Given the description of an element on the screen output the (x, y) to click on. 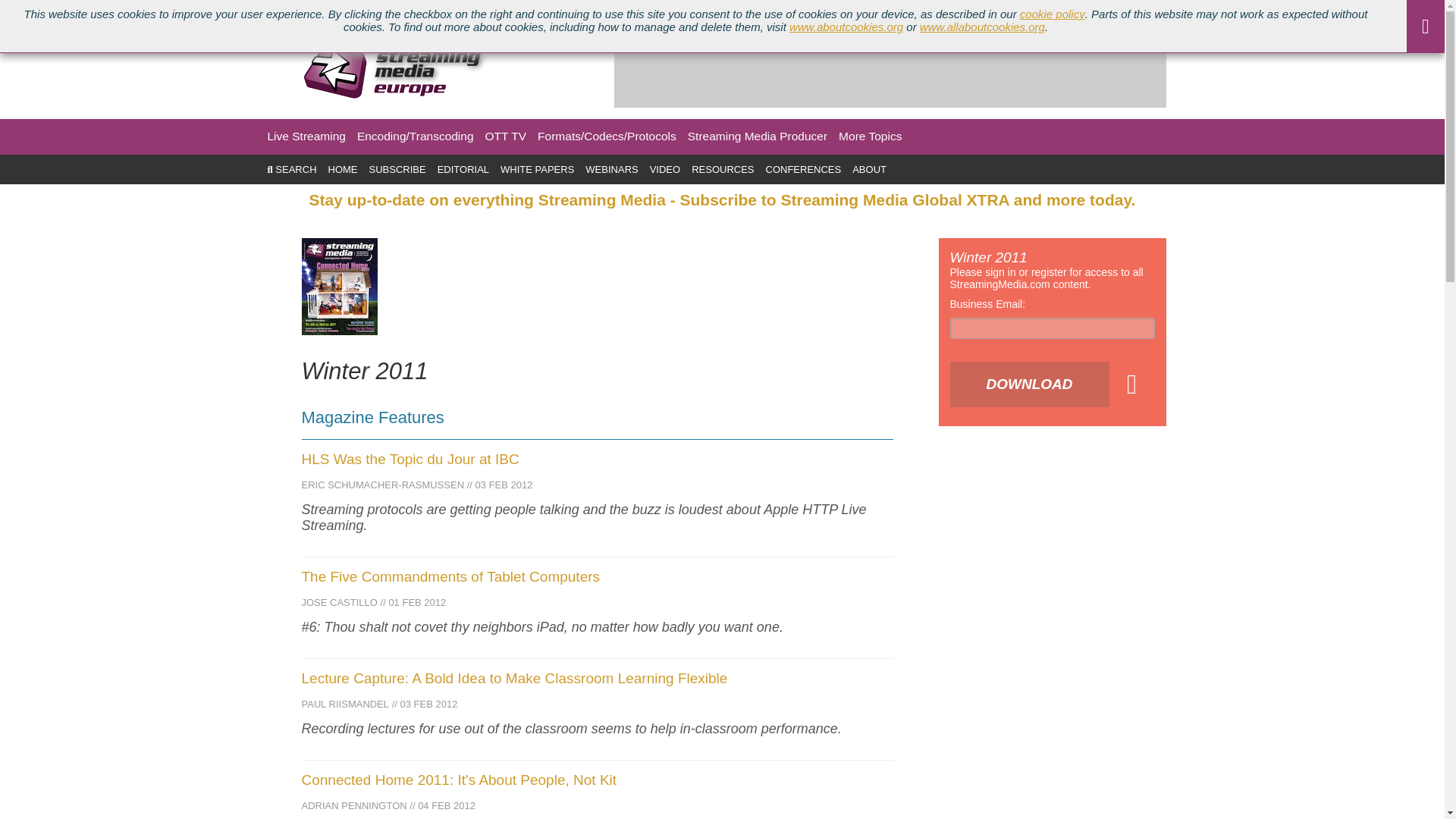
SUBSCRIBE (397, 169)
SOURCEBOOK (474, 10)
PRODUCER (88, 10)
www.aboutcookies.org (845, 26)
Streaming Media Producer (757, 136)
OTT TV (505, 136)
Live Streaming (305, 136)
Streaming Media Connect 2024 (213, 10)
STREAMING MEDIA NYC (368, 10)
 SEARCH (290, 169)
EDITORIAL (463, 169)
STREAMING MEDIA CONNECT 2024 (213, 10)
cookie policy (1052, 13)
Live Streaming (305, 136)
Streaming Media Producer (757, 136)
